Given the description of an element on the screen output the (x, y) to click on. 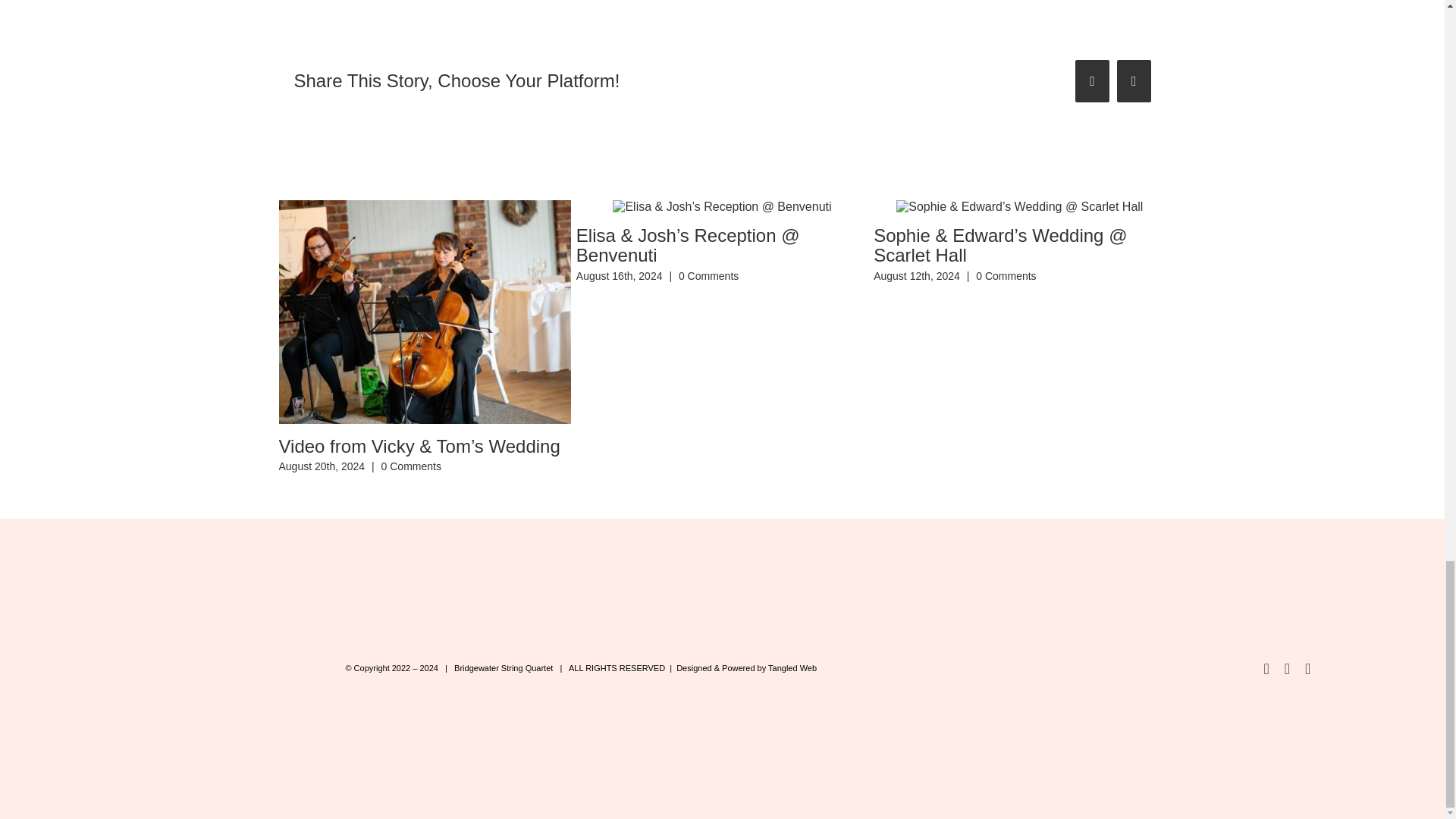
0 Comments (411, 466)
0 Comments (708, 275)
0 Comments (1005, 275)
